Given the description of an element on the screen output the (x, y) to click on. 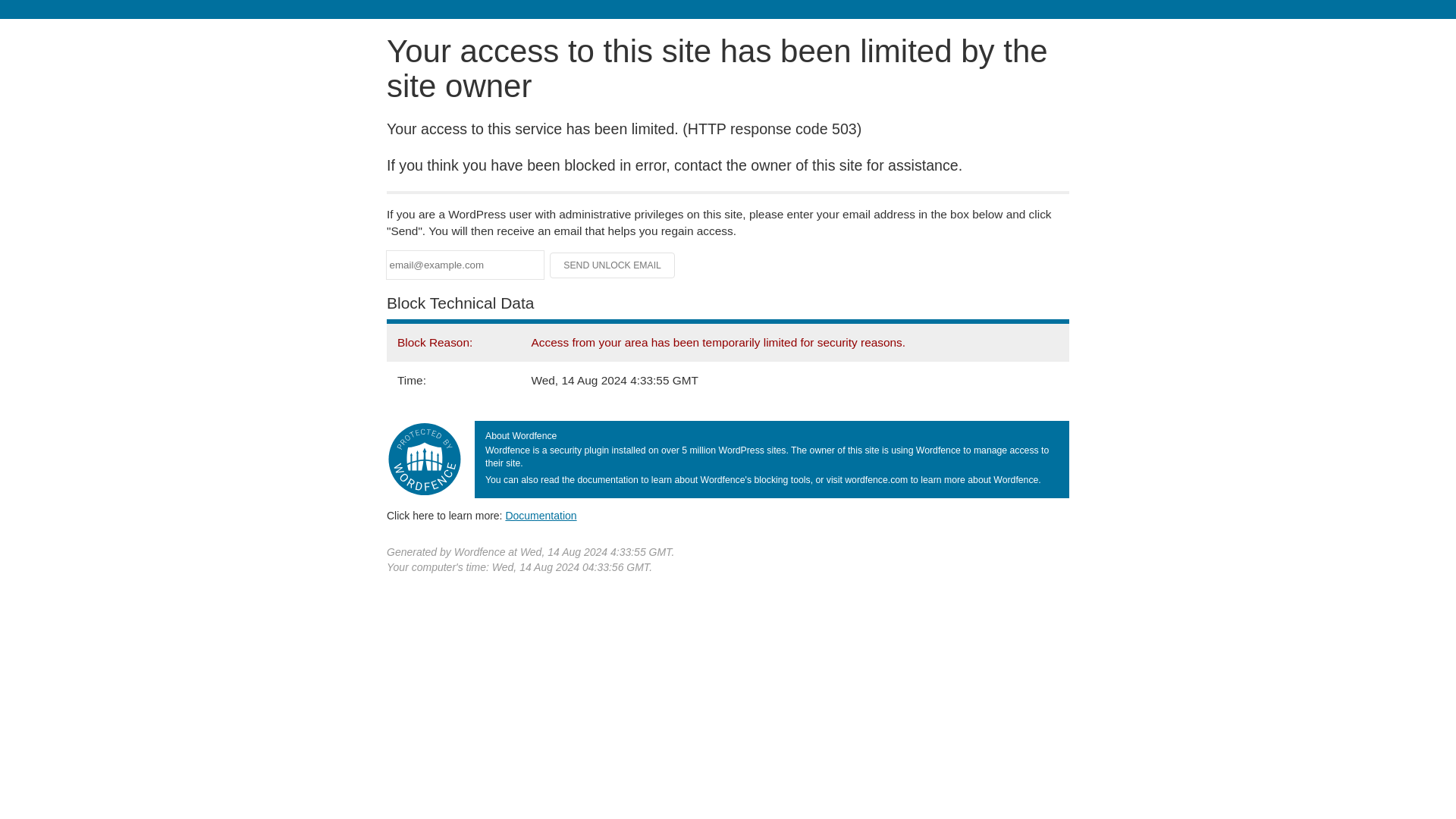
Send Unlock Email (612, 265)
Send Unlock Email (612, 265)
Documentation (540, 515)
